Given the description of an element on the screen output the (x, y) to click on. 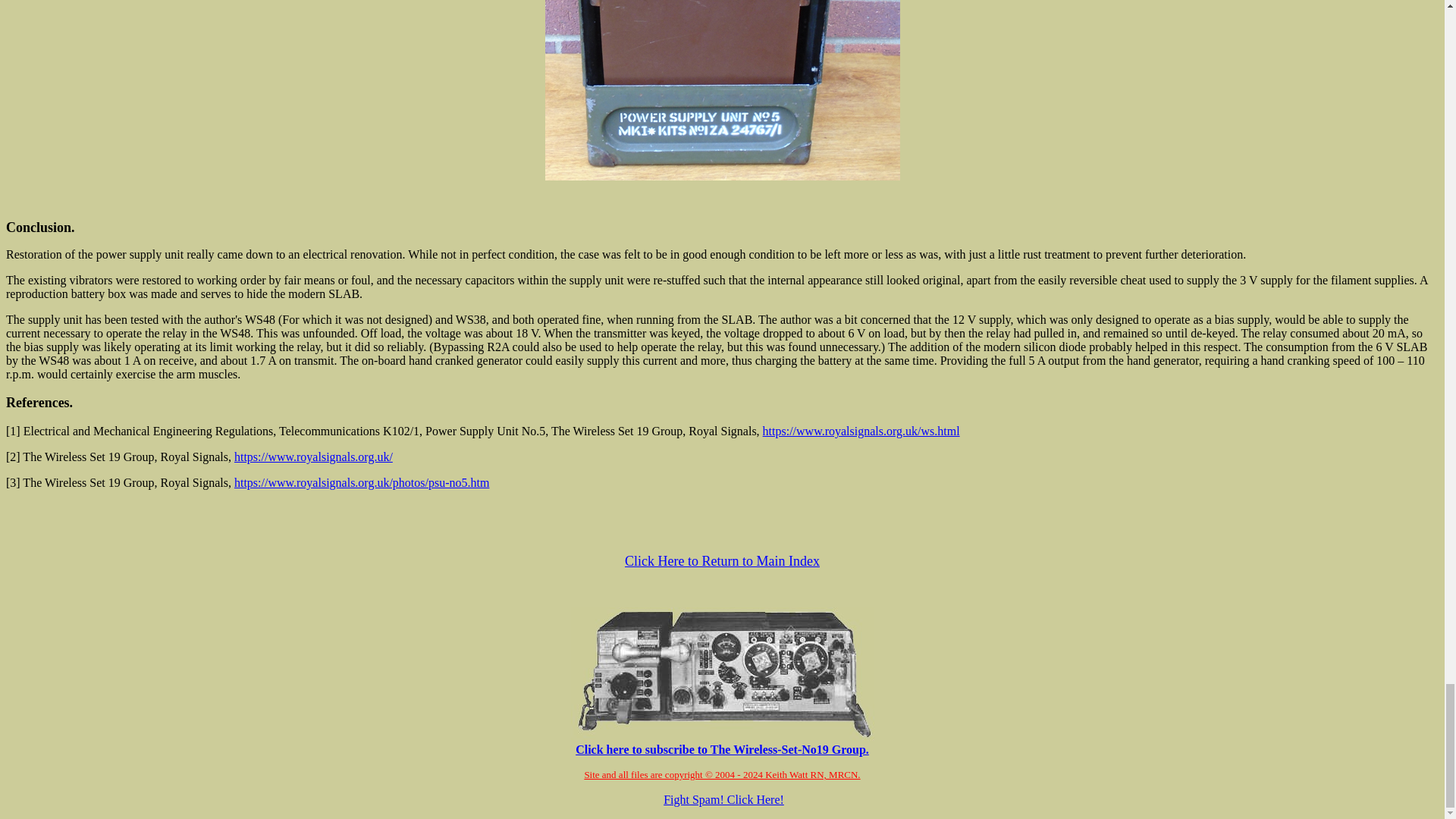
Fight Spam! Click Here! (723, 799)
Click Here to Return to Main Index (721, 561)
Click here to subscribe to The Wireless-Set-No19 Group. (721, 743)
